Given the description of an element on the screen output the (x, y) to click on. 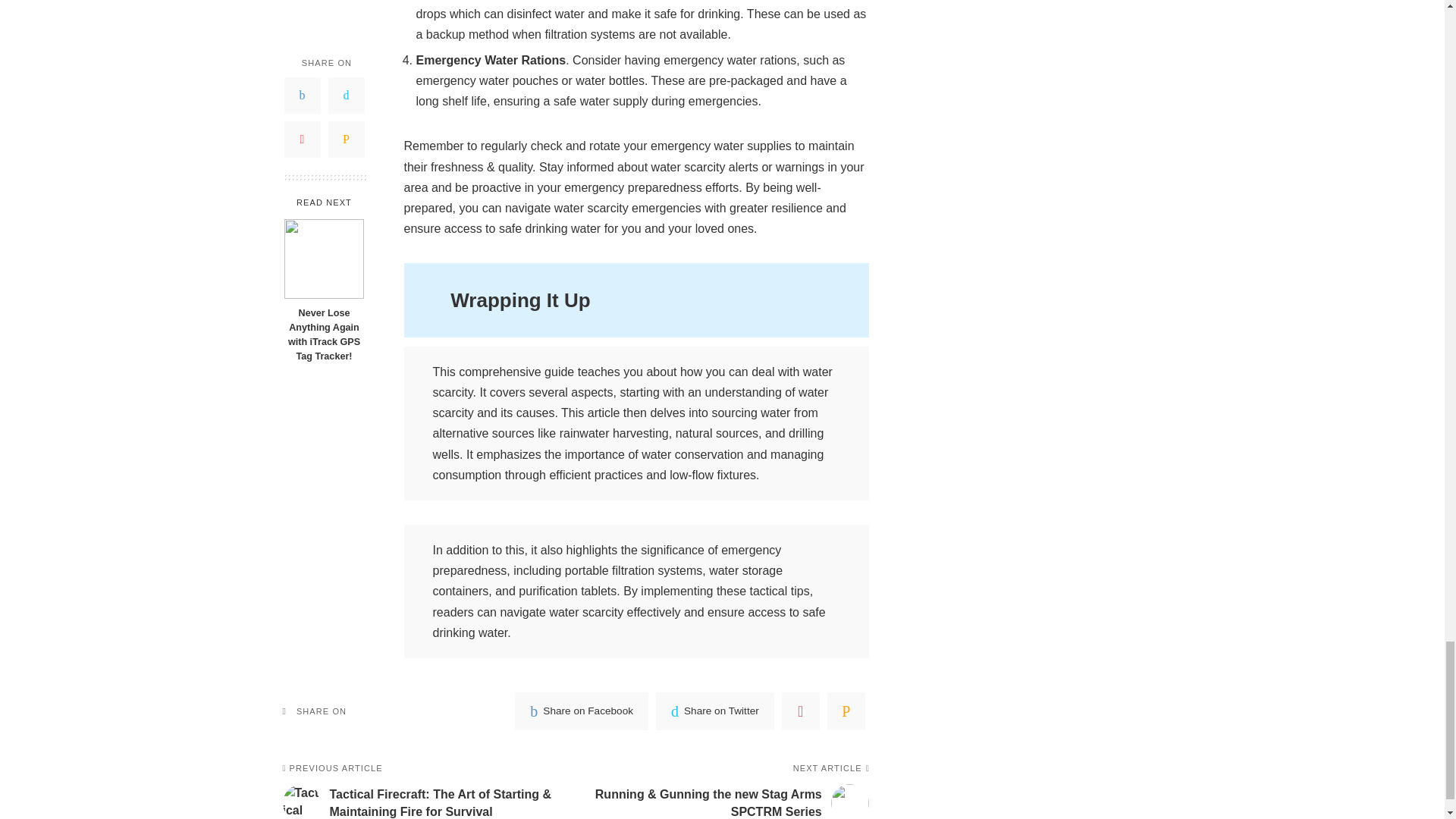
Twitter (715, 711)
Email (845, 711)
Facebook (581, 711)
Pinterest (800, 711)
